Given the description of an element on the screen output the (x, y) to click on. 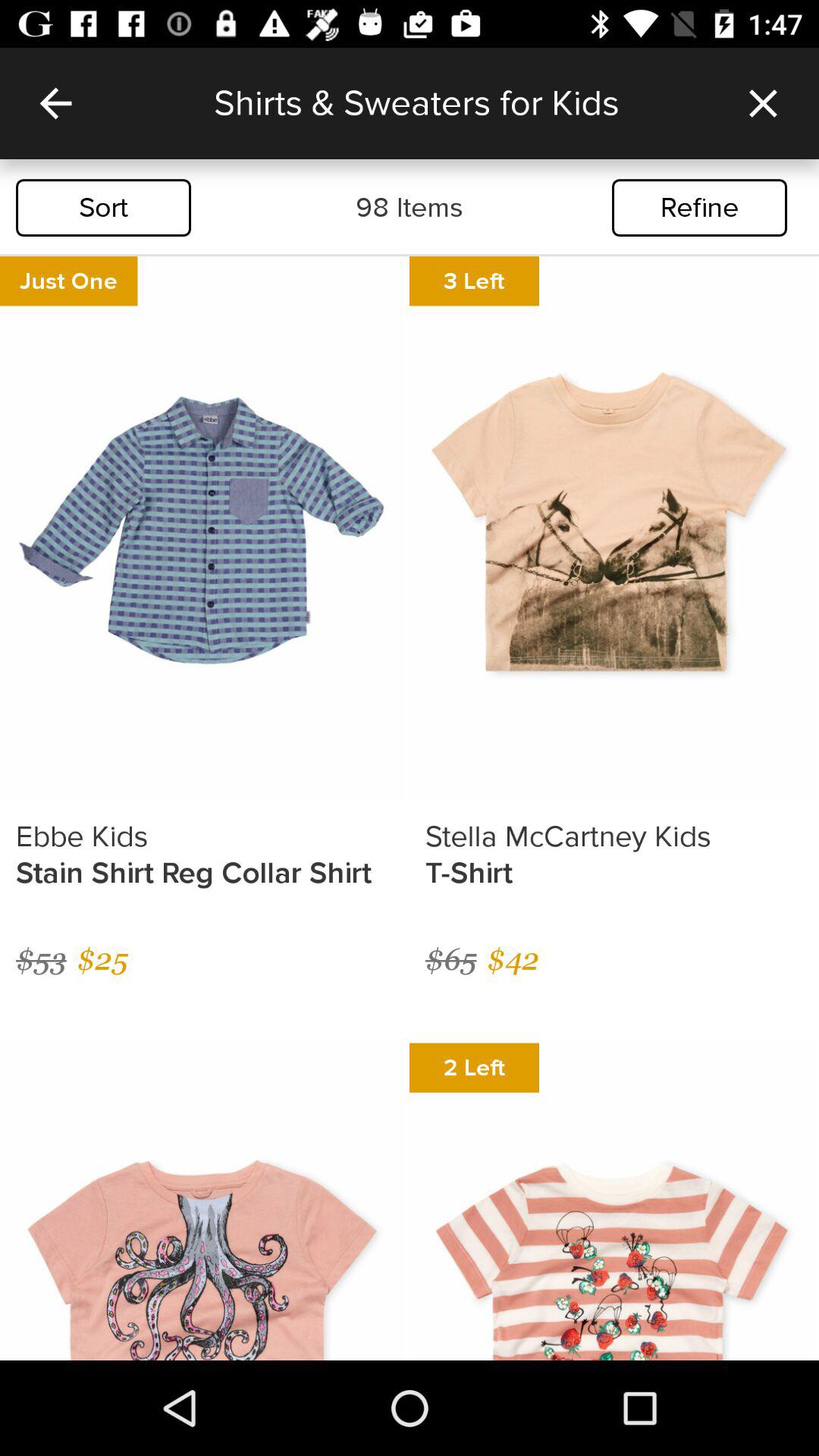
open icon to the left of the refine item (409, 207)
